Given the description of an element on the screen output the (x, y) to click on. 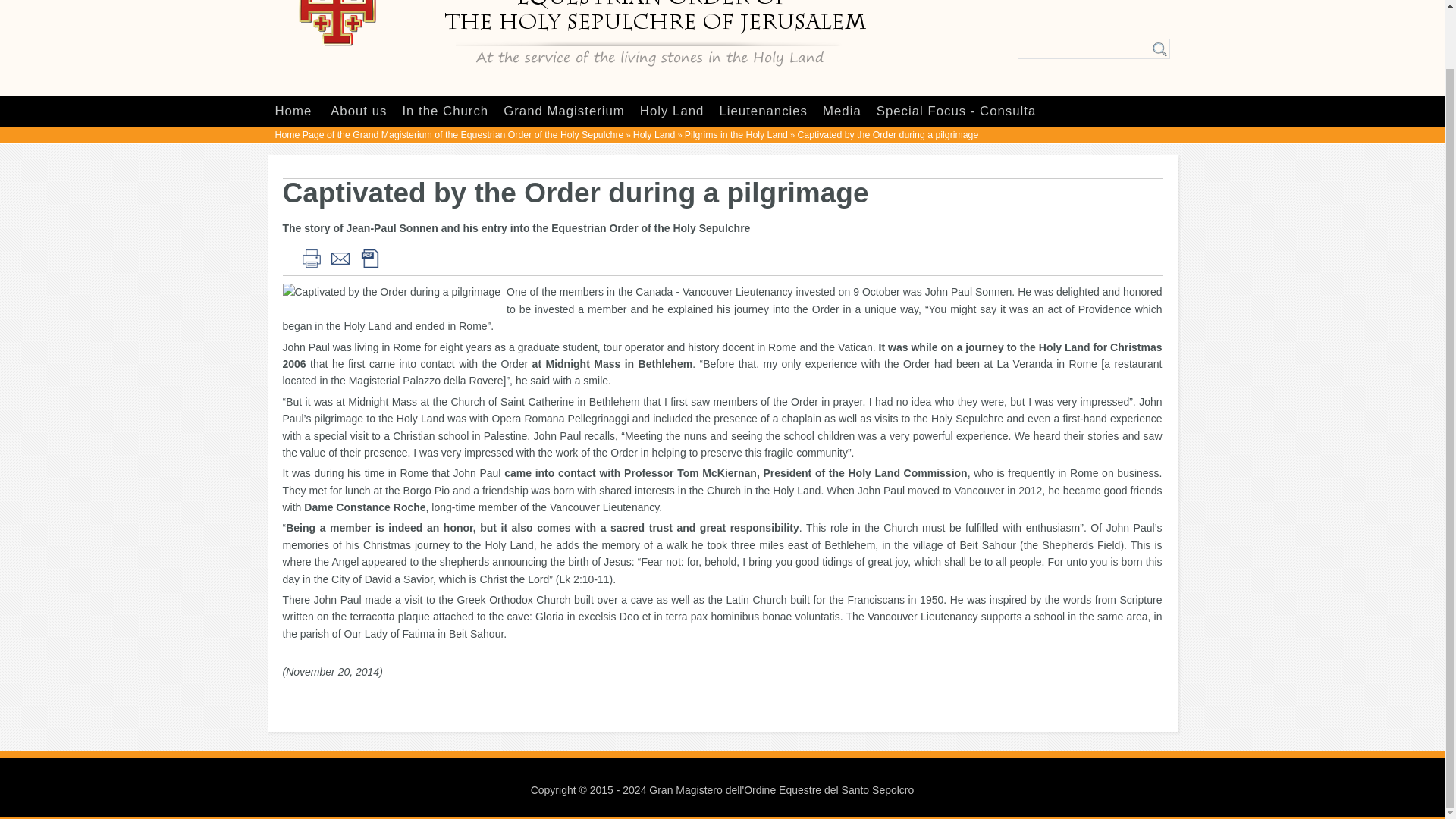
Print (310, 256)
Lieutenancies (763, 110)
About us (358, 110)
Mail (339, 256)
Grand Magisterium (563, 110)
Home (293, 110)
Holy Land (672, 110)
In the Church (444, 110)
Holy Land (654, 134)
Captivated by the Order during a pilgrimage (394, 291)
Search (1160, 48)
Search (1160, 48)
Media (841, 110)
